Given the description of an element on the screen output the (x, y) to click on. 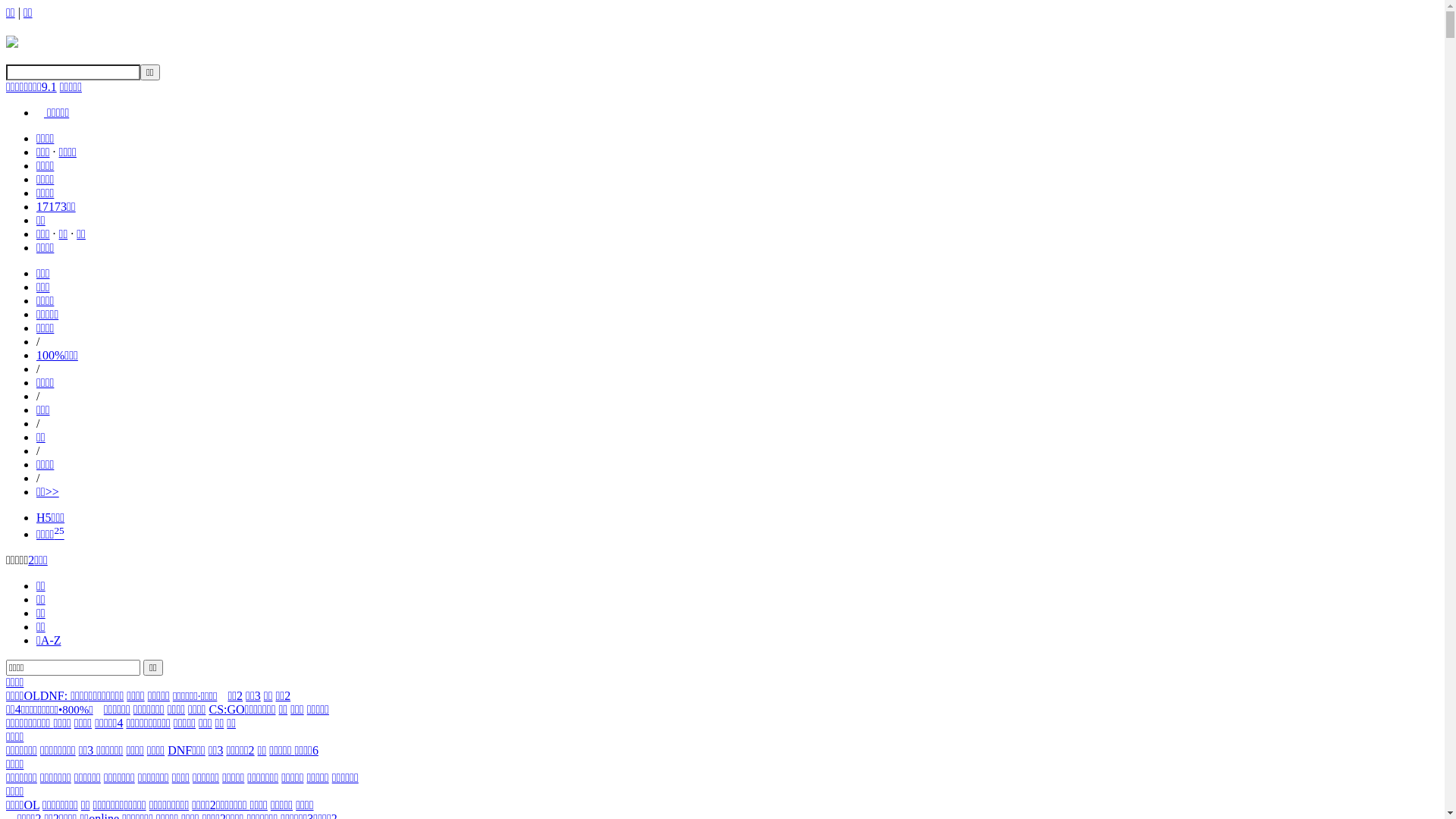
CS:GO Element type: text (226, 708)
